Given the description of an element on the screen output the (x, y) to click on. 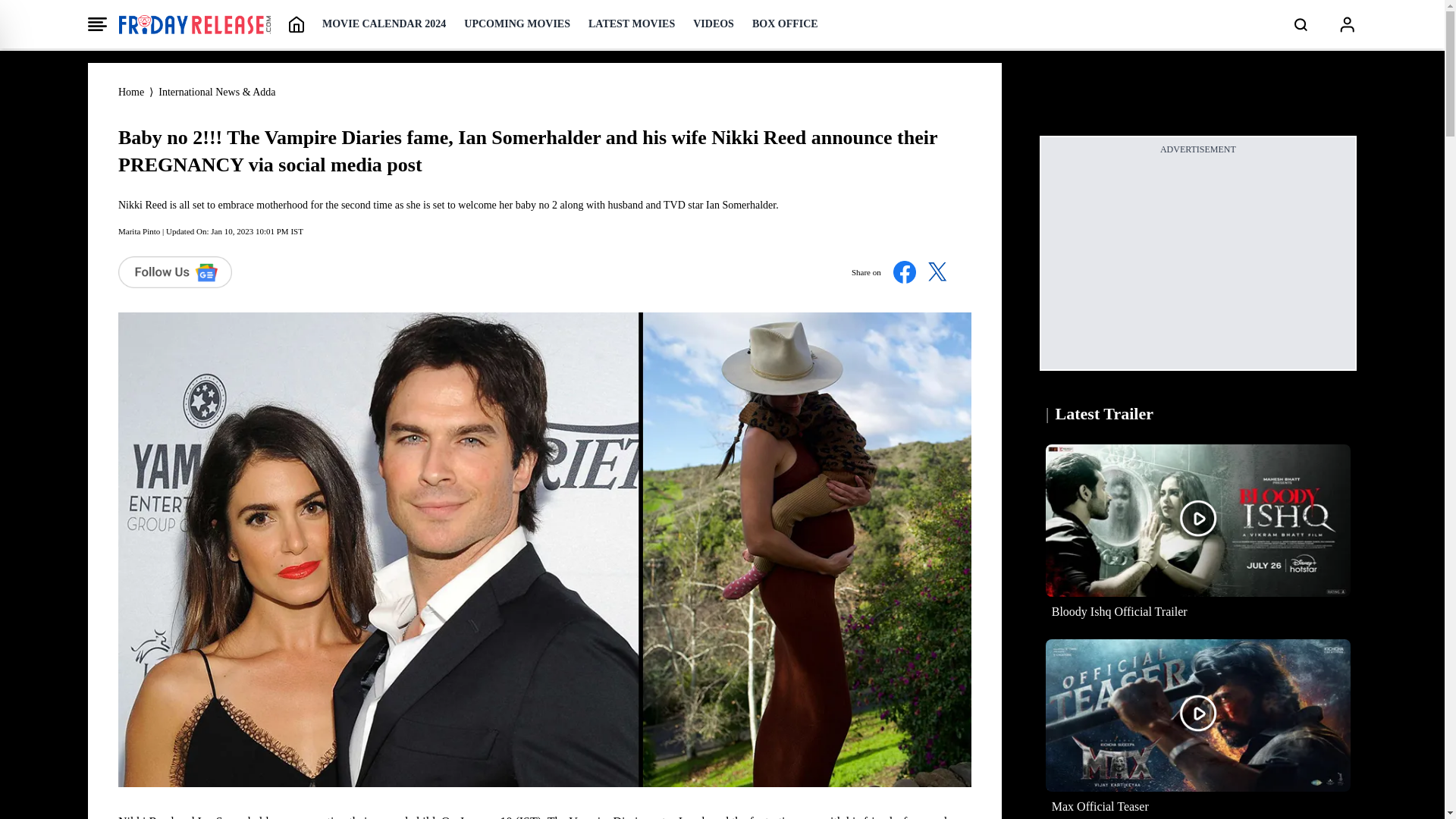
VIDEOS (713, 23)
UPCOMING MOVIES (517, 23)
LATEST MOVIES (631, 23)
MOVIE CALENDAR 2024 (383, 23)
Share on (905, 272)
BOX OFFICE (785, 23)
